Given the description of an element on the screen output the (x, y) to click on. 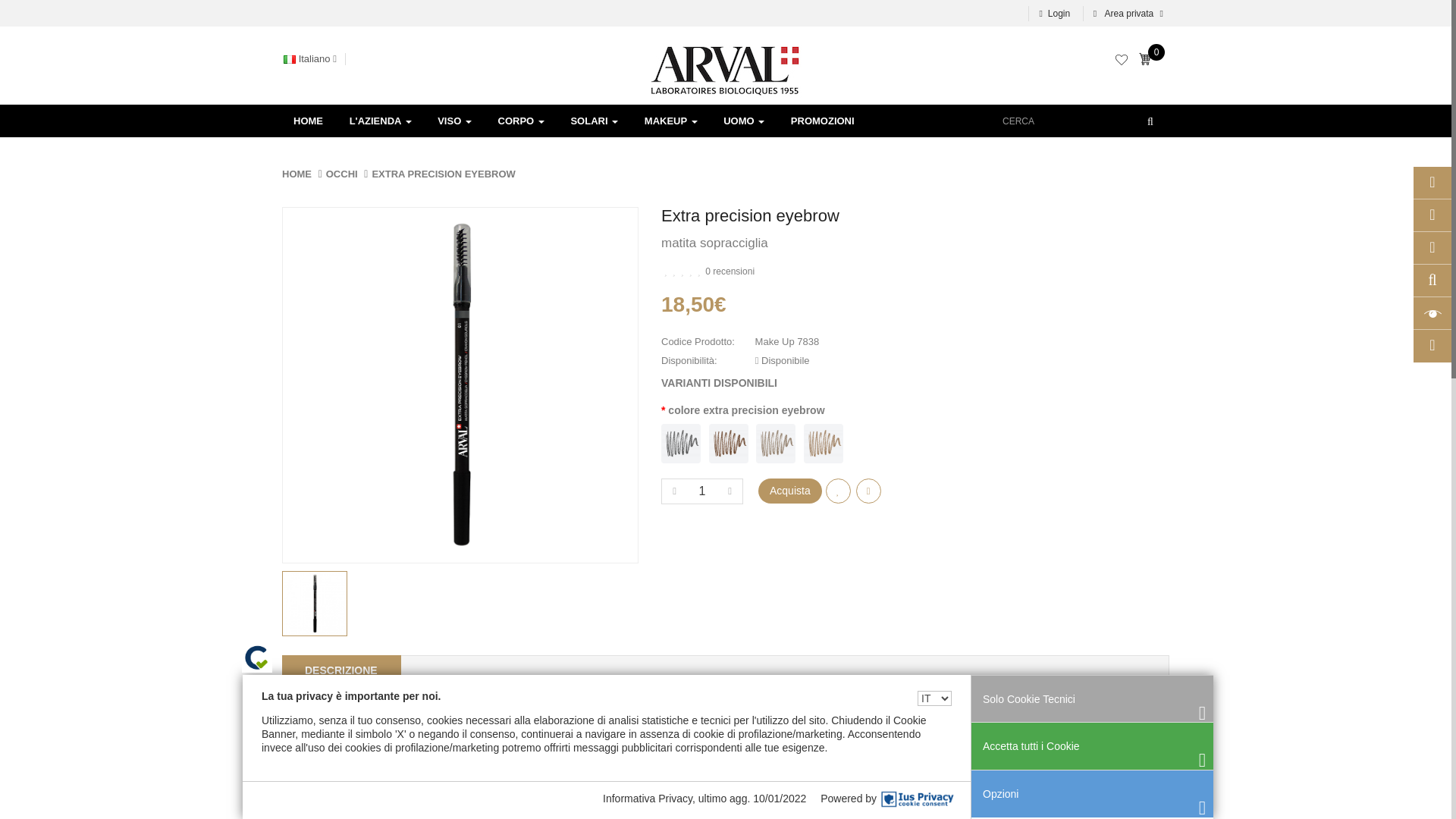
Italiano (289, 59)
1 (702, 491)
VISO (454, 120)
Extra precision eyebrow (459, 385)
Extra precision eyebrow (314, 603)
0 (1147, 60)
Area privata  (1126, 13)
L'AZIENDA (380, 120)
HOME (308, 120)
Login (1054, 13)
